Given the description of an element on the screen output the (x, y) to click on. 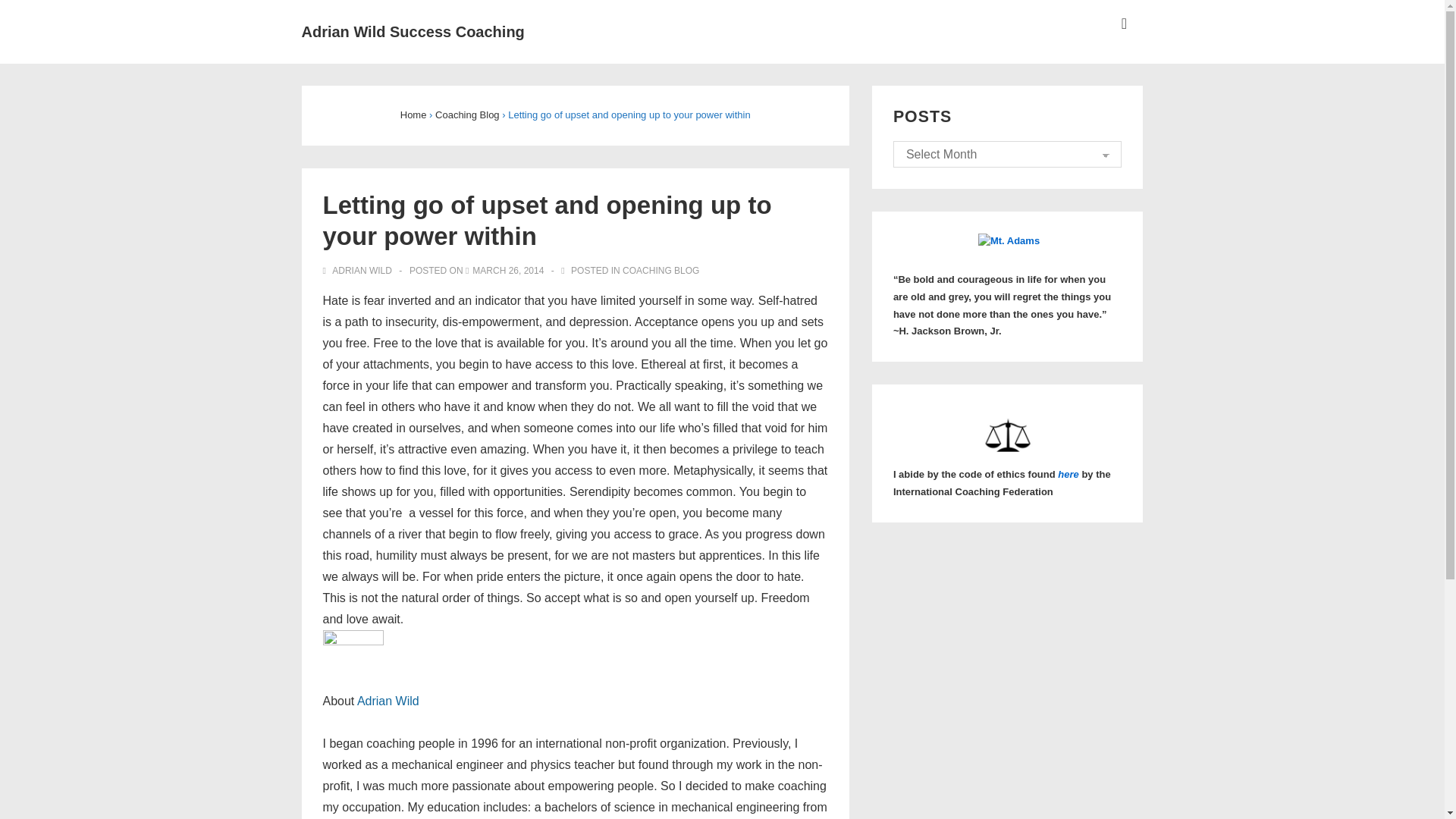
MENU (1123, 23)
Adrian Wild Success Coaching (412, 31)
Adrian Wild (387, 700)
ADRIAN WILD (358, 270)
View all posts by Adrian Wild (358, 270)
Letting go of upset and opening up to your power within (507, 270)
Posts by Adrian Wild (387, 700)
COACHING BLOG (660, 270)
here (1068, 473)
Scales-of-justice (1007, 435)
